Given the description of an element on the screen output the (x, y) to click on. 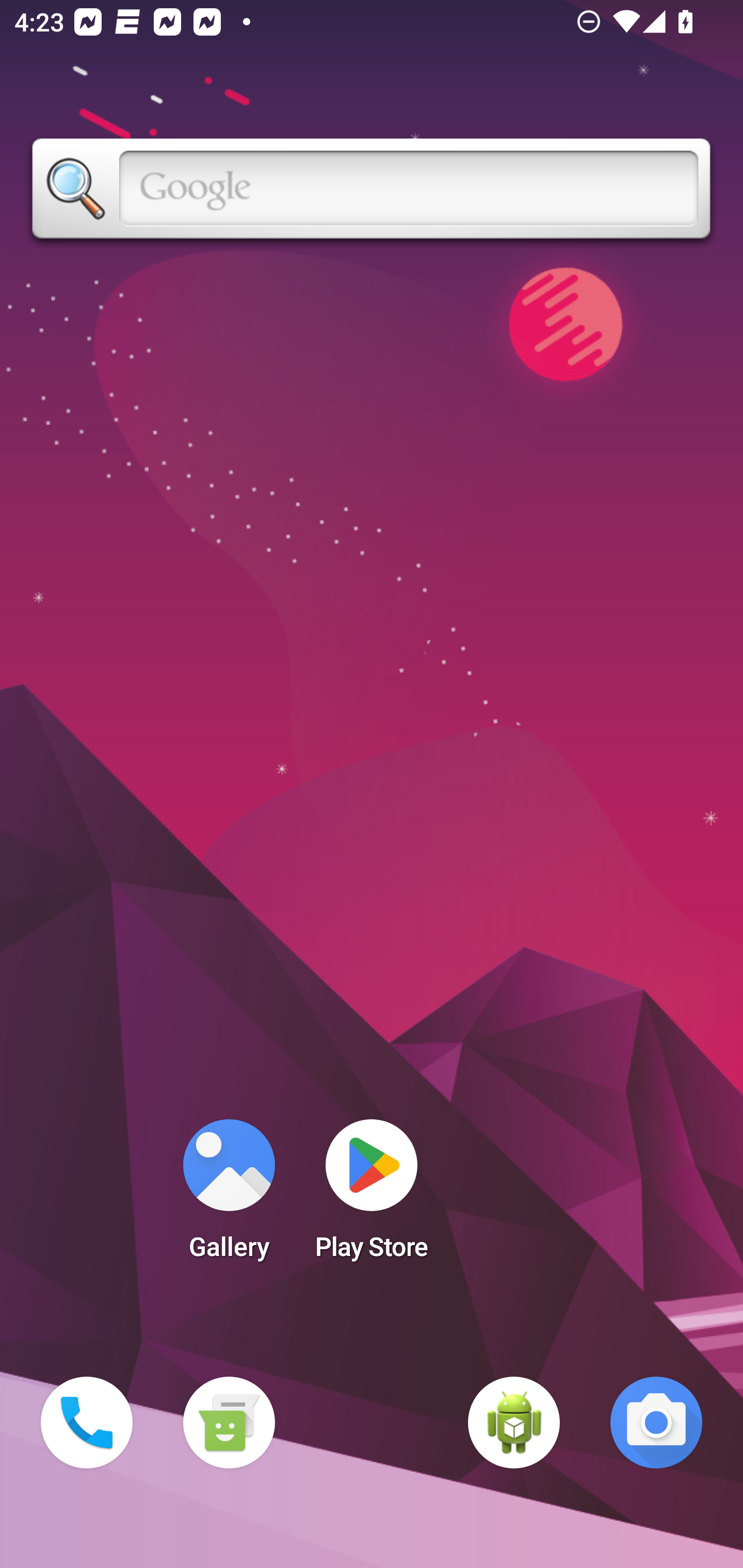
Gallery (228, 1195)
Play Store (371, 1195)
Phone (86, 1422)
Messaging (228, 1422)
WebView Browser Tester (513, 1422)
Camera (656, 1422)
